Given the description of an element on the screen output the (x, y) to click on. 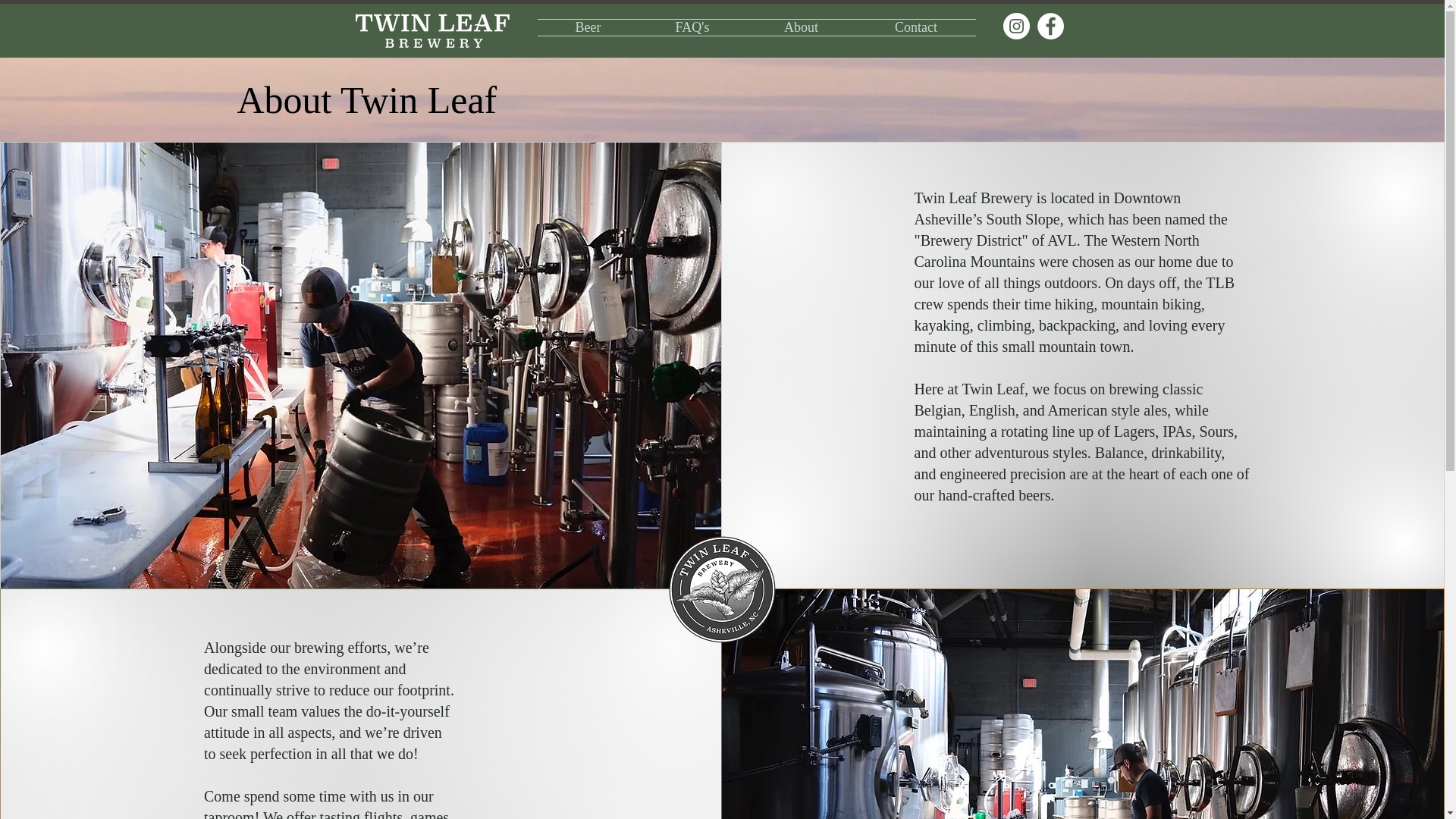
Contact (916, 27)
FAQ's (692, 27)
